Given the description of an element on the screen output the (x, y) to click on. 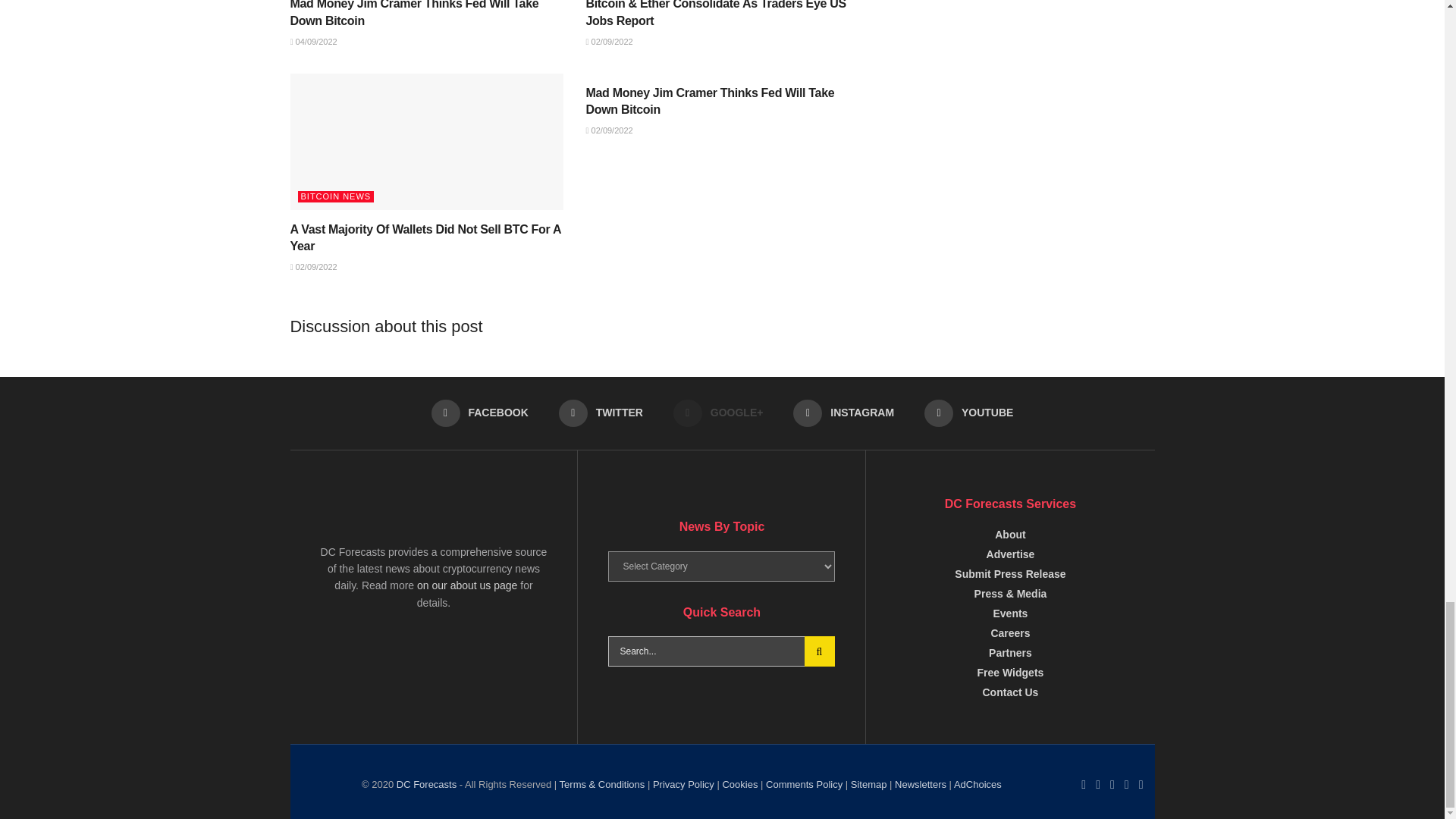
Sitemap (868, 784)
Cookies  (739, 784)
Newsletters (977, 784)
Privacy Policy  (683, 784)
Newsletters (920, 784)
Comments  Policy (804, 784)
